Given the description of an element on the screen output the (x, y) to click on. 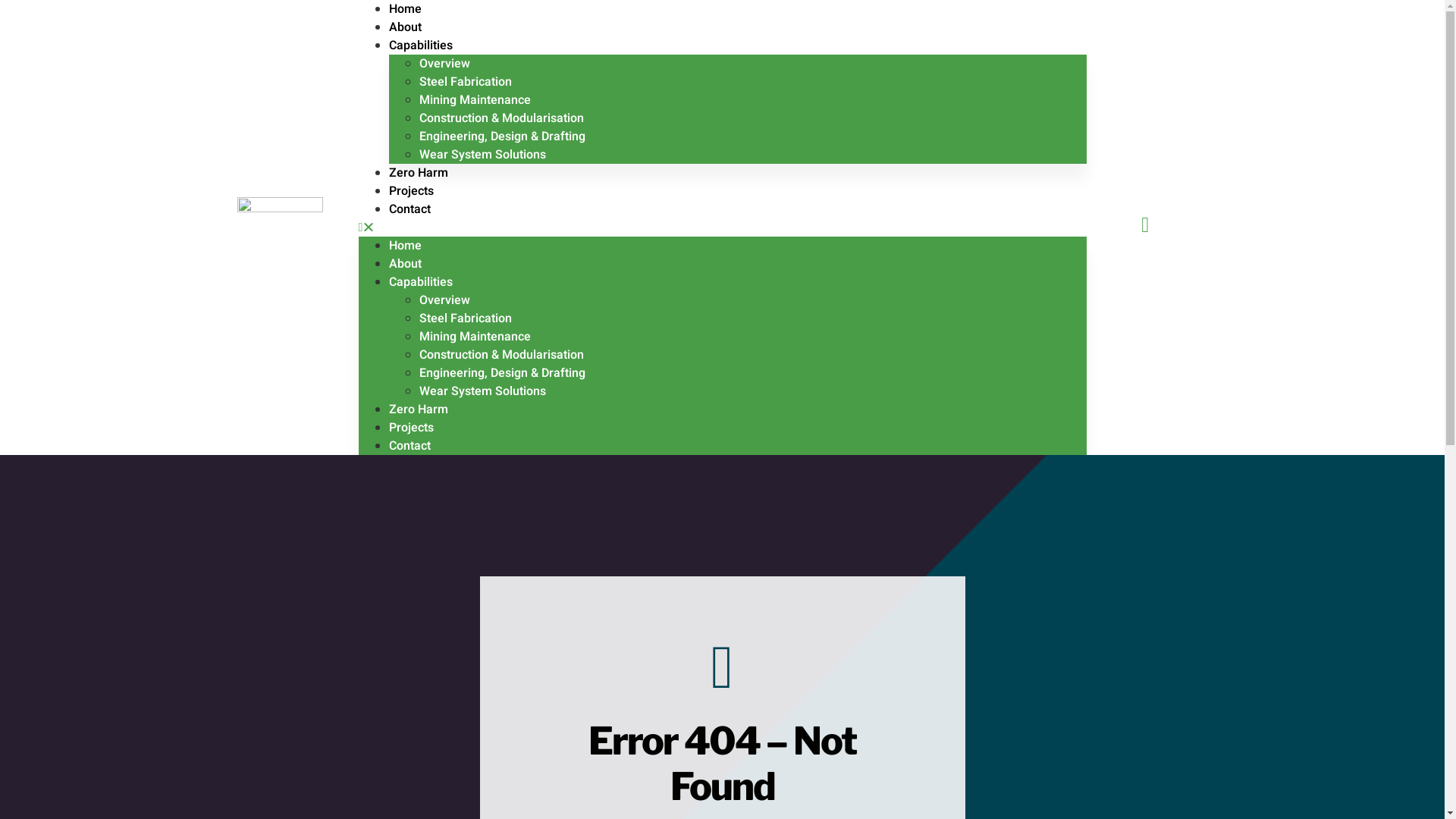
Mining Maintenance Element type: text (474, 100)
Capabilities Element type: text (419, 45)
Contact Element type: text (408, 445)
Projects Element type: text (410, 427)
Construction & Modularisation Element type: text (500, 118)
Overview Element type: text (443, 300)
Engineering, Design & Drafting Element type: text (501, 373)
Projects Element type: text (410, 190)
Overview Element type: text (443, 63)
Capabilities Element type: text (419, 282)
Engineering, Design & Drafting Element type: text (501, 136)
Steel Fabrication Element type: text (464, 81)
About Element type: text (404, 263)
Zero Harm Element type: text (417, 172)
About Element type: text (404, 27)
Home Element type: text (404, 245)
Mining Maintenance Element type: text (474, 336)
Steel Fabrication Element type: text (464, 318)
Contact Element type: text (408, 209)
Wear System Solutions Element type: text (481, 391)
Construction & Modularisation Element type: text (500, 354)
Zero Harm Element type: text (417, 409)
Wear System Solutions Element type: text (481, 154)
